Given the description of an element on the screen output the (x, y) to click on. 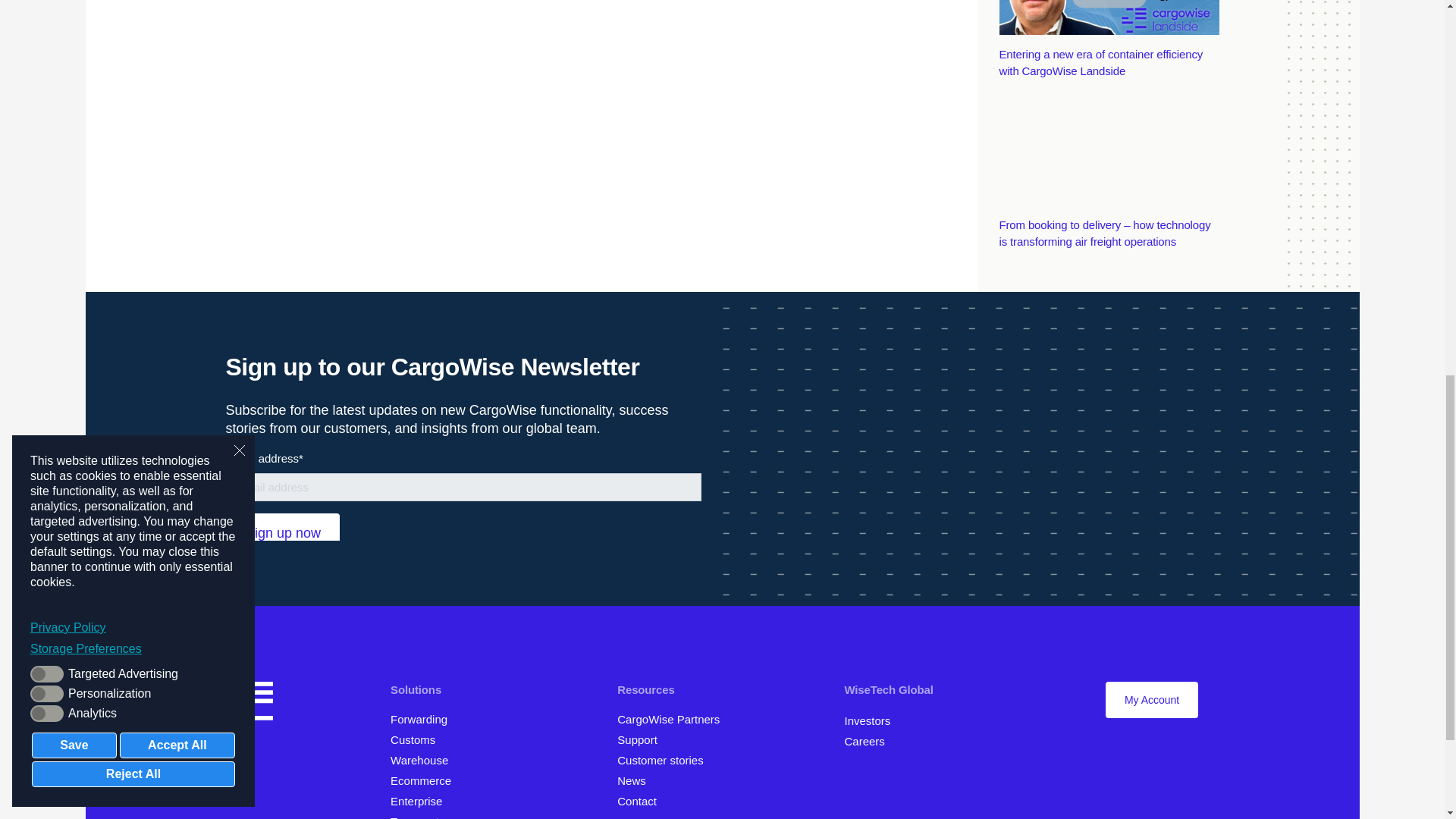
Ecommerce (425, 780)
Domestic Transport Management (419, 816)
Global Trade Management and Compliance (417, 739)
WiseTech Global (893, 689)
Warehouse Management (424, 759)
International Logistics (424, 718)
CargoWise Home (249, 703)
Contact (641, 800)
Find a Partner (673, 718)
Enterprise Tools (421, 800)
Support (642, 739)
Investor center (872, 720)
Customer Stories (667, 759)
News (636, 780)
